Given the description of an element on the screen output the (x, y) to click on. 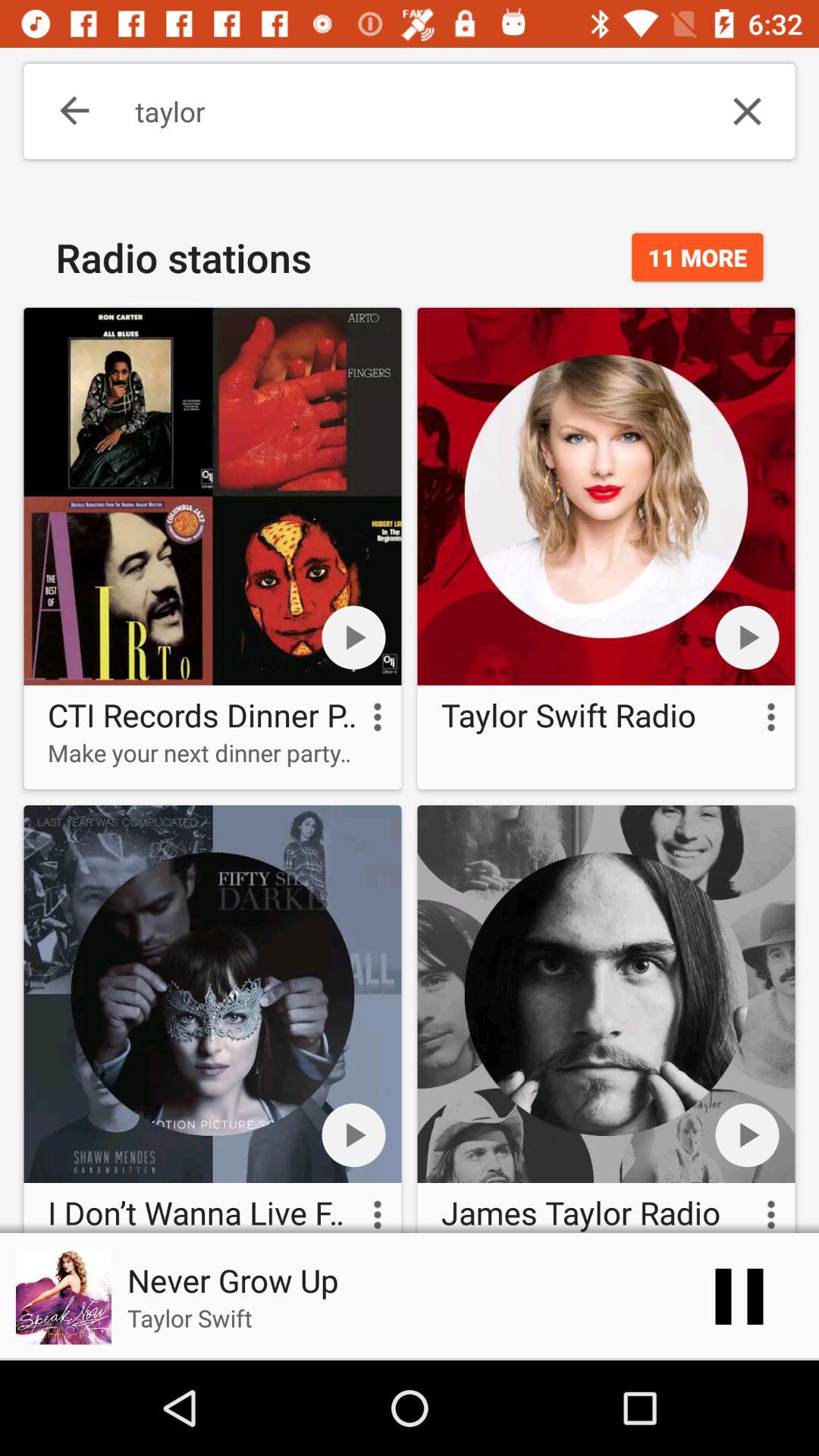
click icon next to never grow up icon (739, 1296)
